Given the description of an element on the screen output the (x, y) to click on. 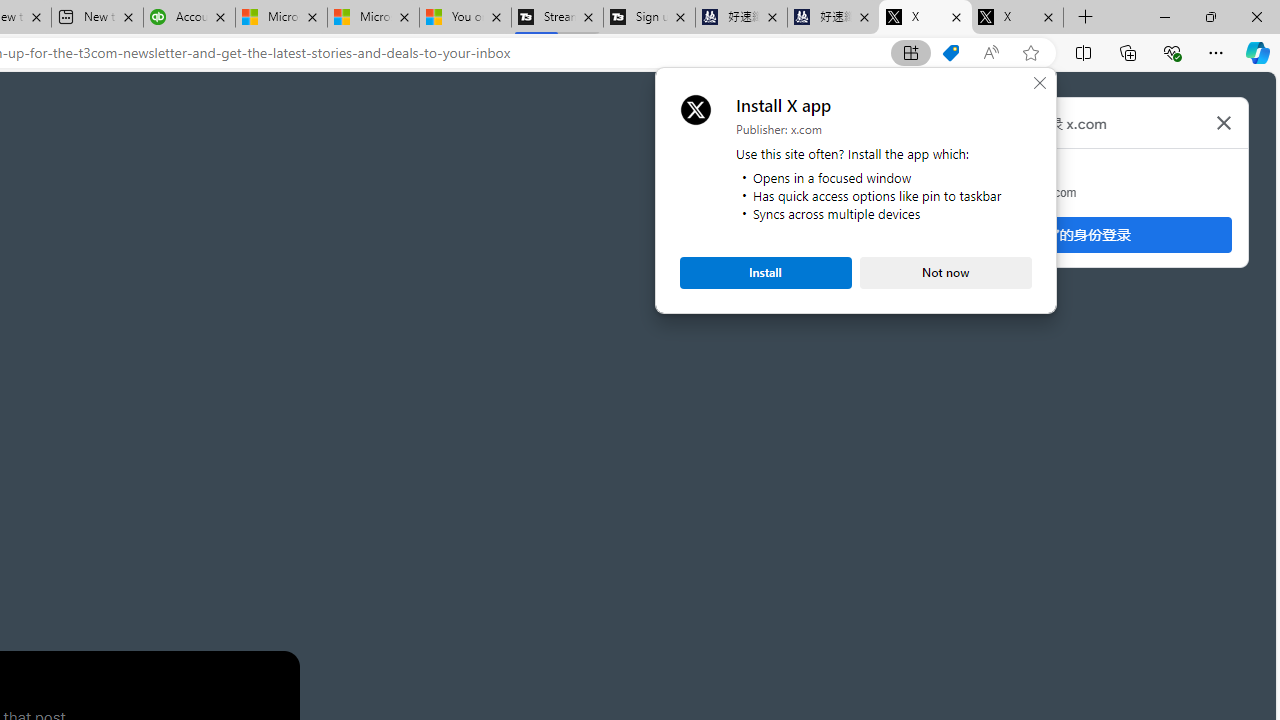
Class: Bz112c Bz112c-r9oPif (1224, 122)
Collections (1128, 52)
Install (765, 272)
Browser essentials (1171, 52)
